Given the description of an element on the screen output the (x, y) to click on. 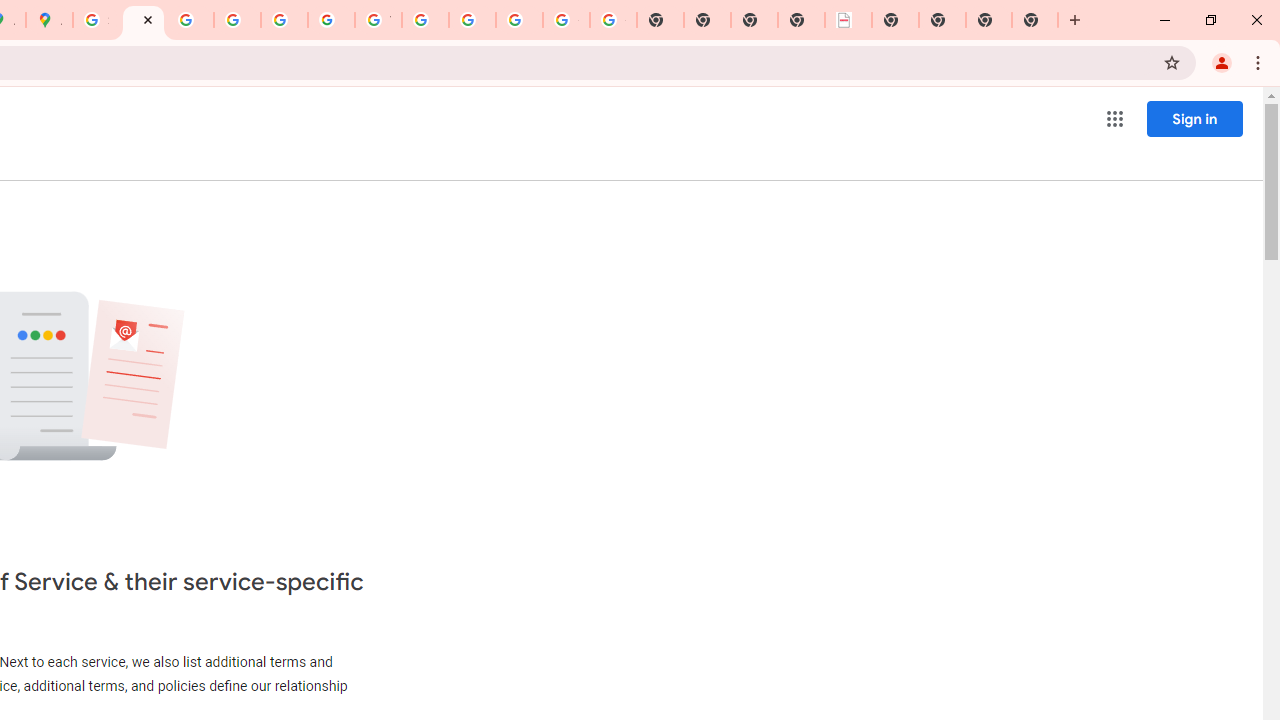
YouTube (377, 20)
